Given the description of an element on the screen output the (x, y) to click on. 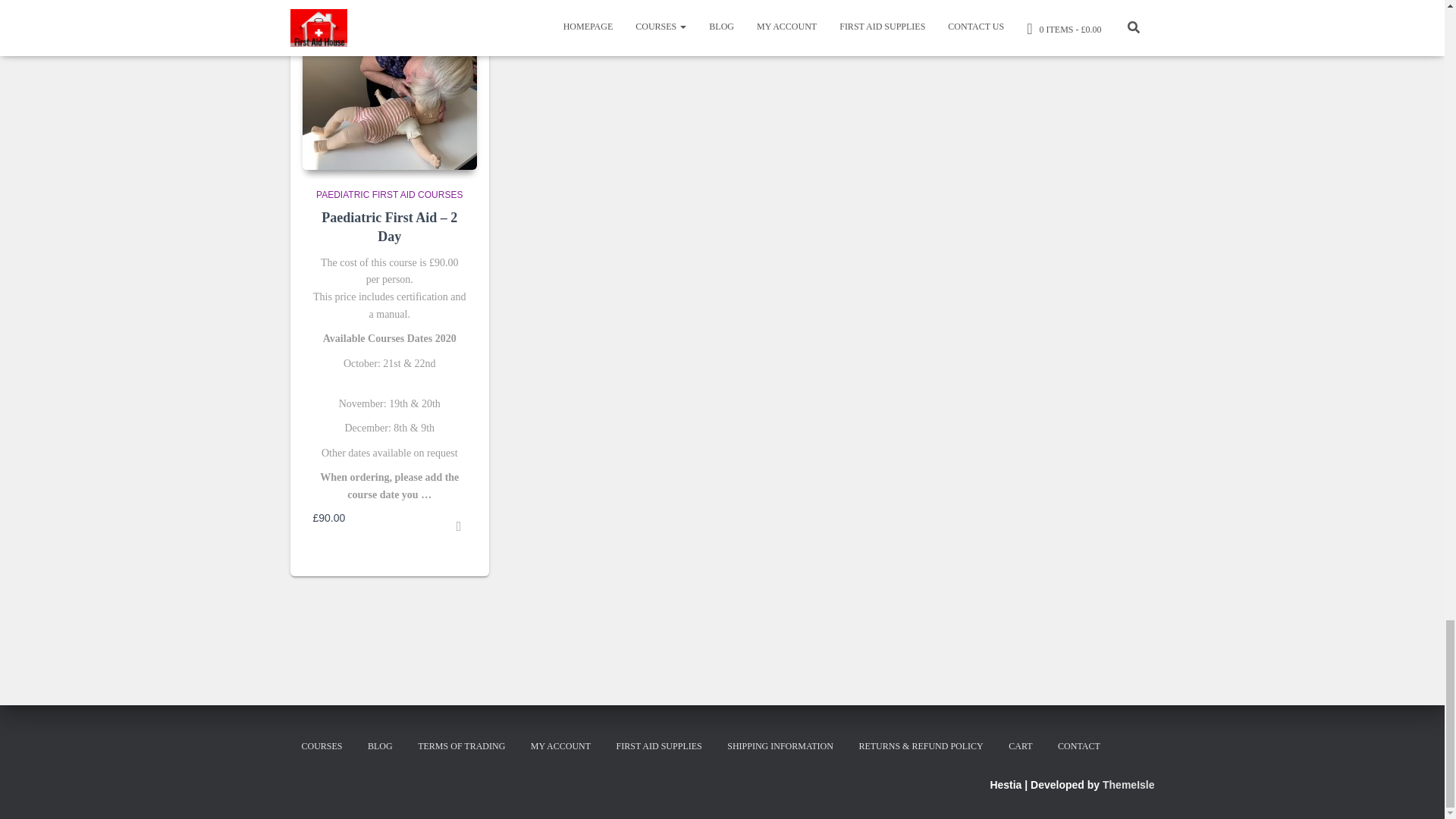
BLOG (380, 746)
COURSES (321, 746)
FIRST AID SUPPLIES (659, 746)
TERMS OF TRADING (461, 746)
MY ACCOUNT (560, 746)
PAEDIATRIC FIRST AID COURSES (389, 194)
CART (1020, 746)
SHIPPING INFORMATION (780, 746)
